Given the description of an element on the screen output the (x, y) to click on. 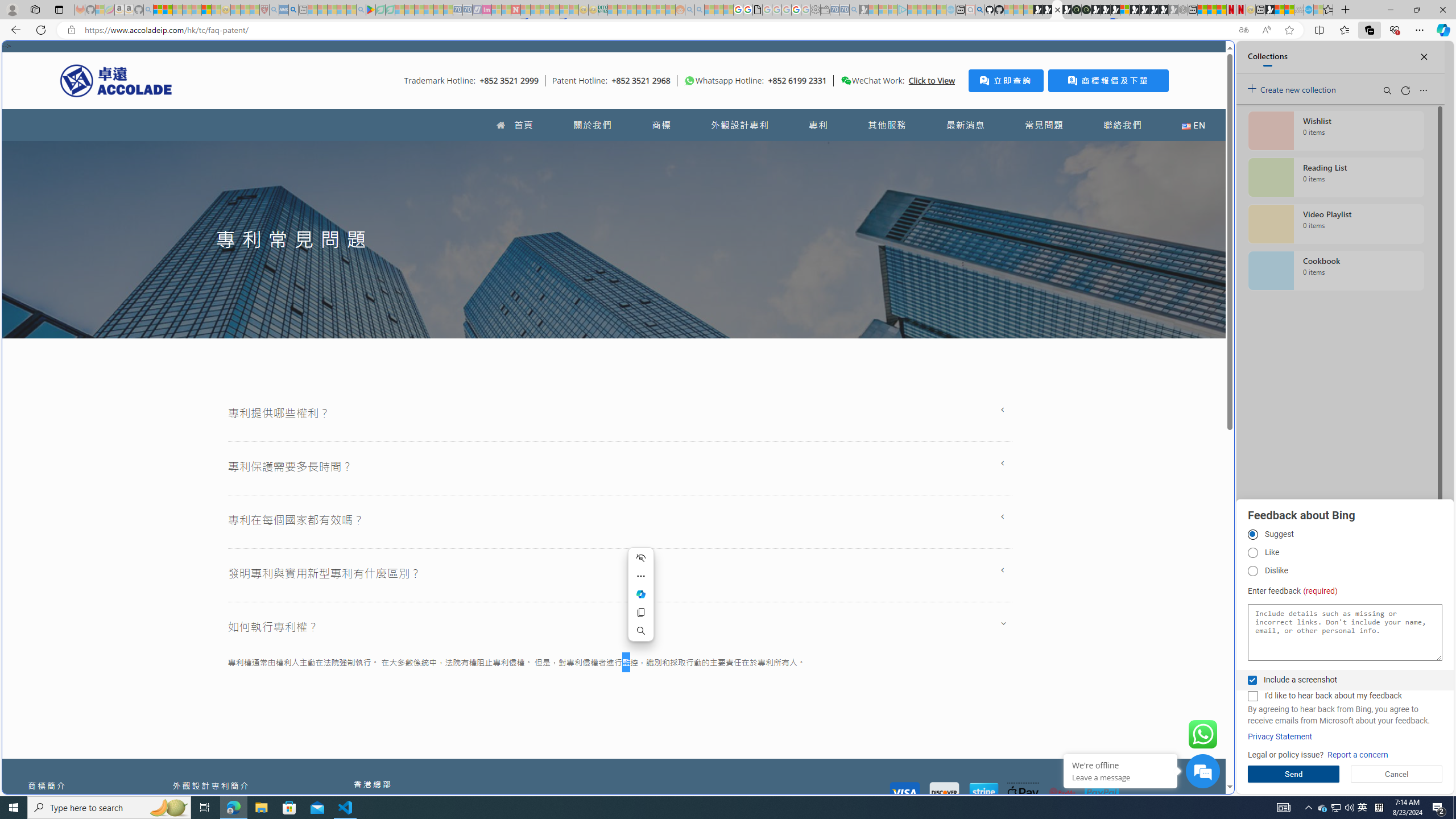
World - MSN (1279, 9)
More actions (640, 575)
EN (1193, 124)
Bluey: Let's Play! - Apps on Google Play - Sleeping (370, 9)
Cheap Hotels - Save70.com - Sleeping (467, 9)
Close split screen (1208, 57)
